Given the description of an element on the screen output the (x, y) to click on. 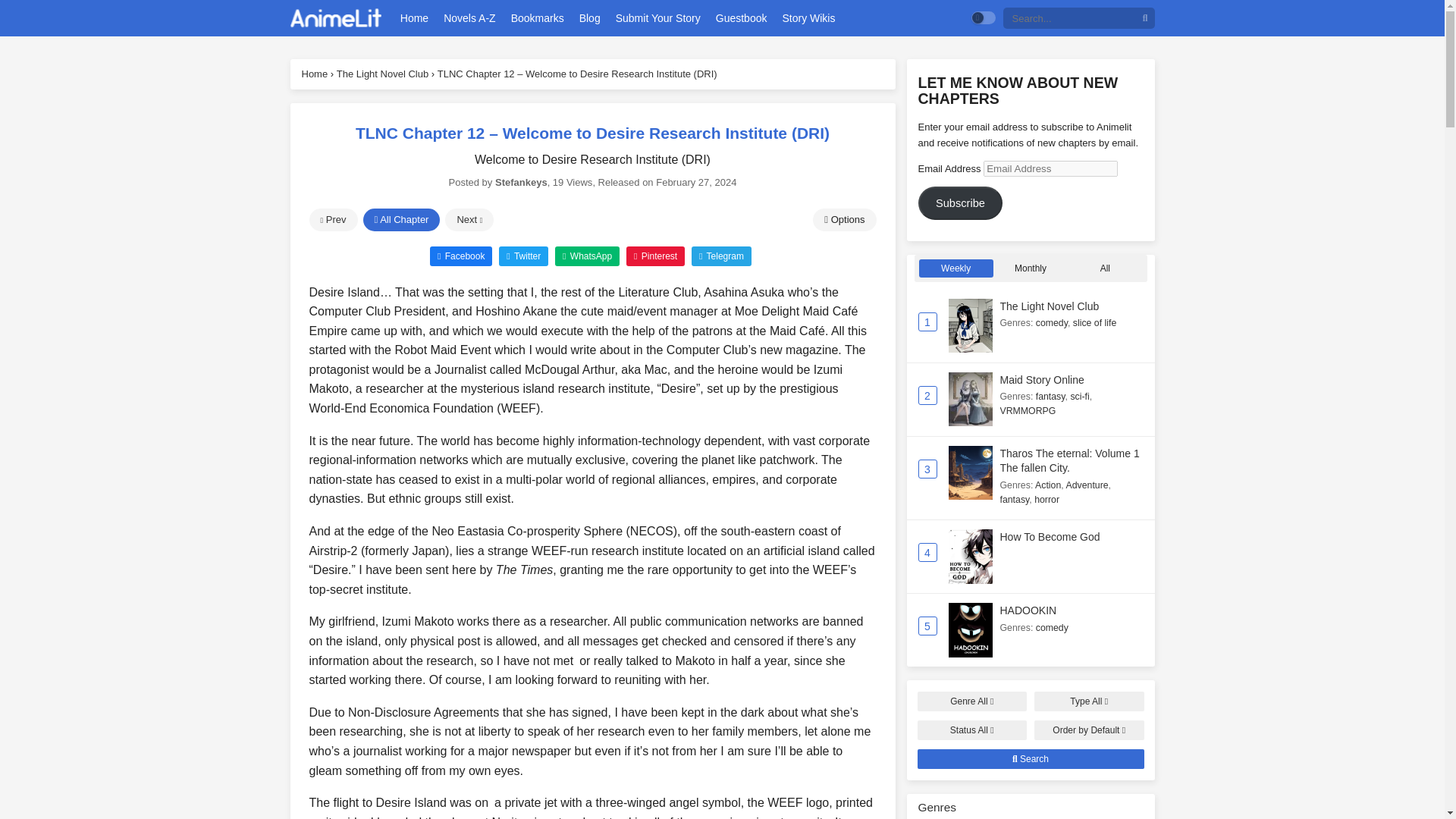
slice of life (1094, 322)
Animelit - An Otaku Circle's Free Novel Site (334, 17)
Novels A-Z (469, 18)
fantasy (1050, 396)
Facebook (460, 255)
Maid Story Online (1040, 379)
Submit Your Story (657, 18)
Guestbook (741, 18)
Telegram (721, 255)
All Chapter (400, 219)
Bookmarks (536, 18)
Home (414, 18)
Next (469, 219)
Subscribe (960, 203)
The Light Novel Club (1048, 306)
